Given the description of an element on the screen output the (x, y) to click on. 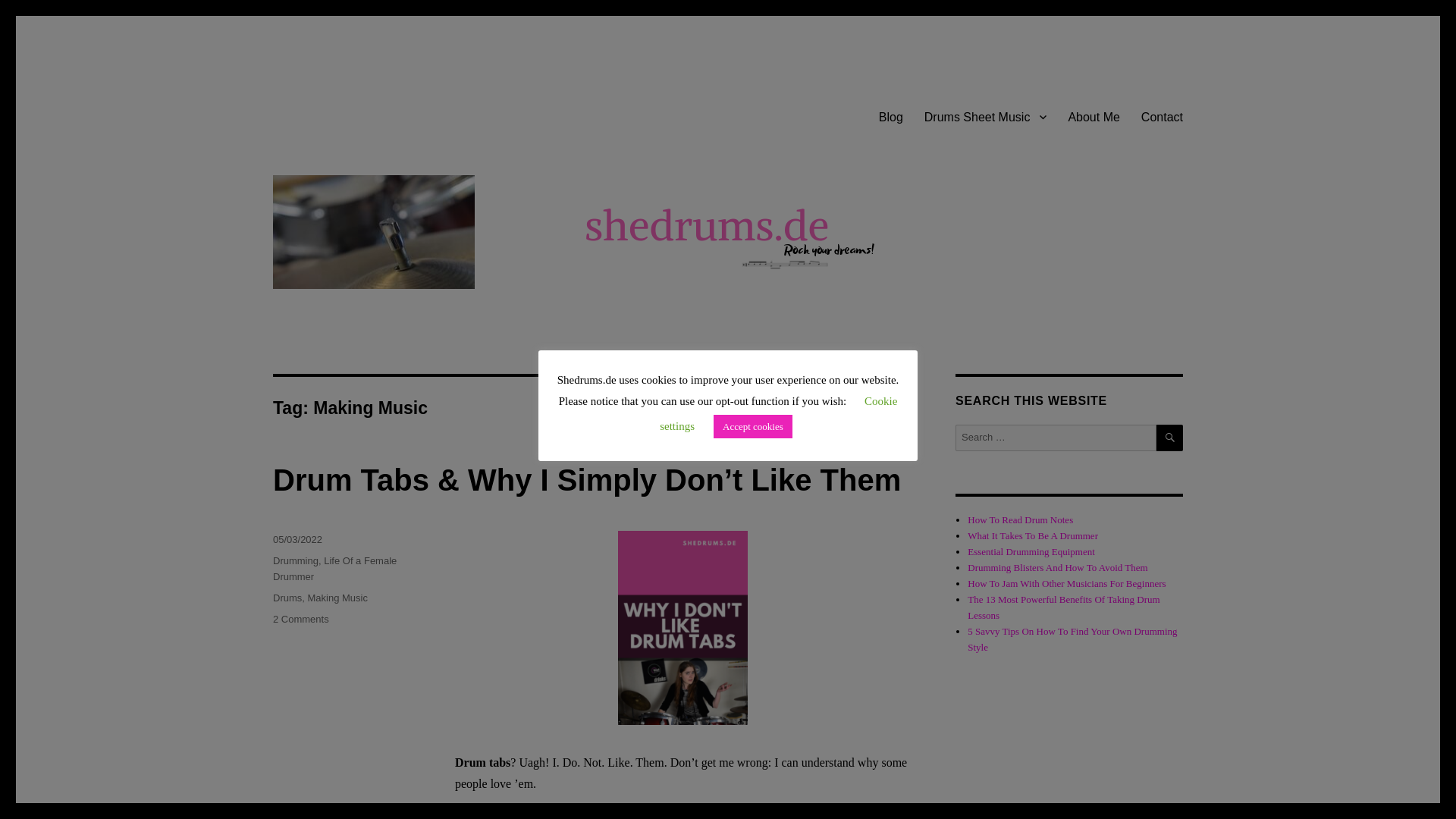
About Me (1093, 116)
Contact (1162, 116)
Drums (287, 597)
Making Music (337, 597)
Life Of a Female Drummer (334, 568)
Drums Sheet Music (986, 116)
sHe druMs: Rock The Kit! (402, 92)
Drumming (295, 560)
Blog (890, 116)
